Given the description of an element on the screen output the (x, y) to click on. 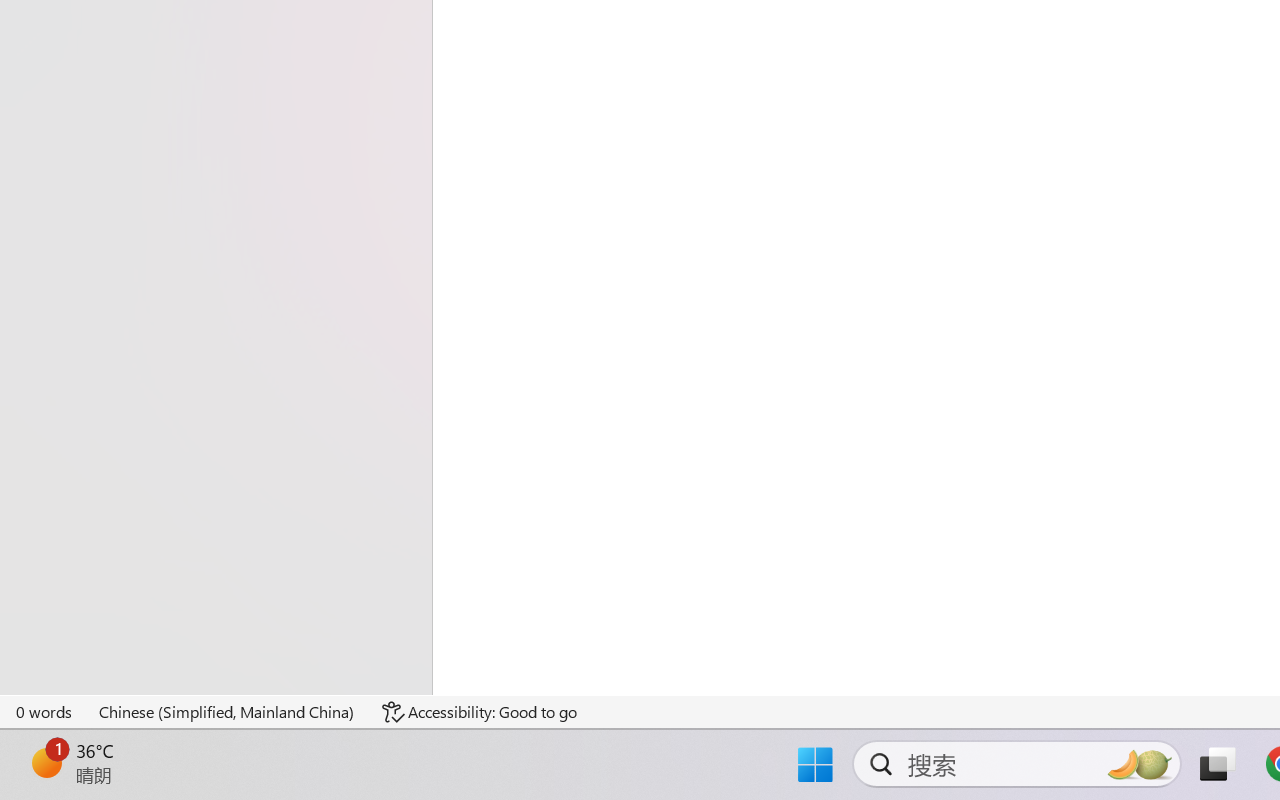
Language Chinese (Simplified, Mainland China) (227, 712)
